Given the description of an element on the screen output the (x, y) to click on. 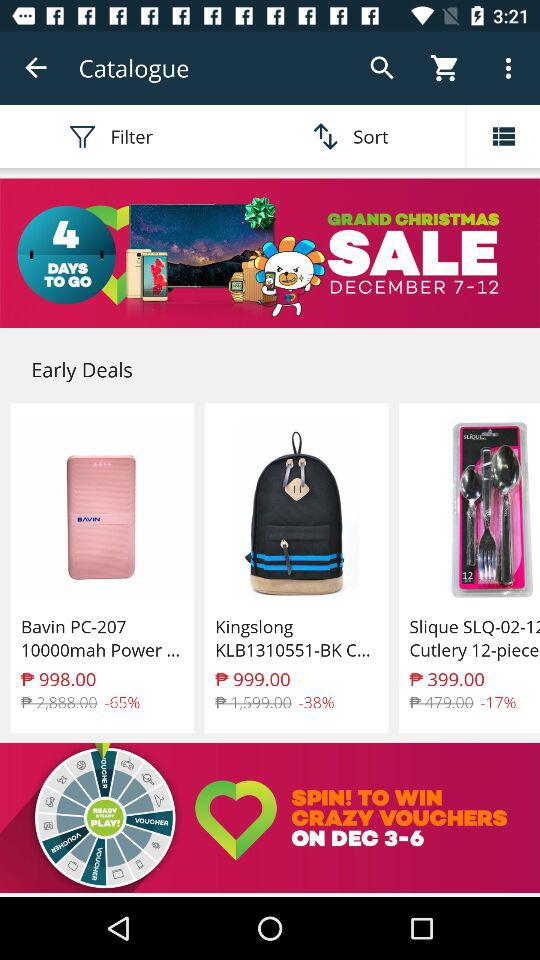
link to a website (270, 817)
